Given the description of an element on the screen output the (x, y) to click on. 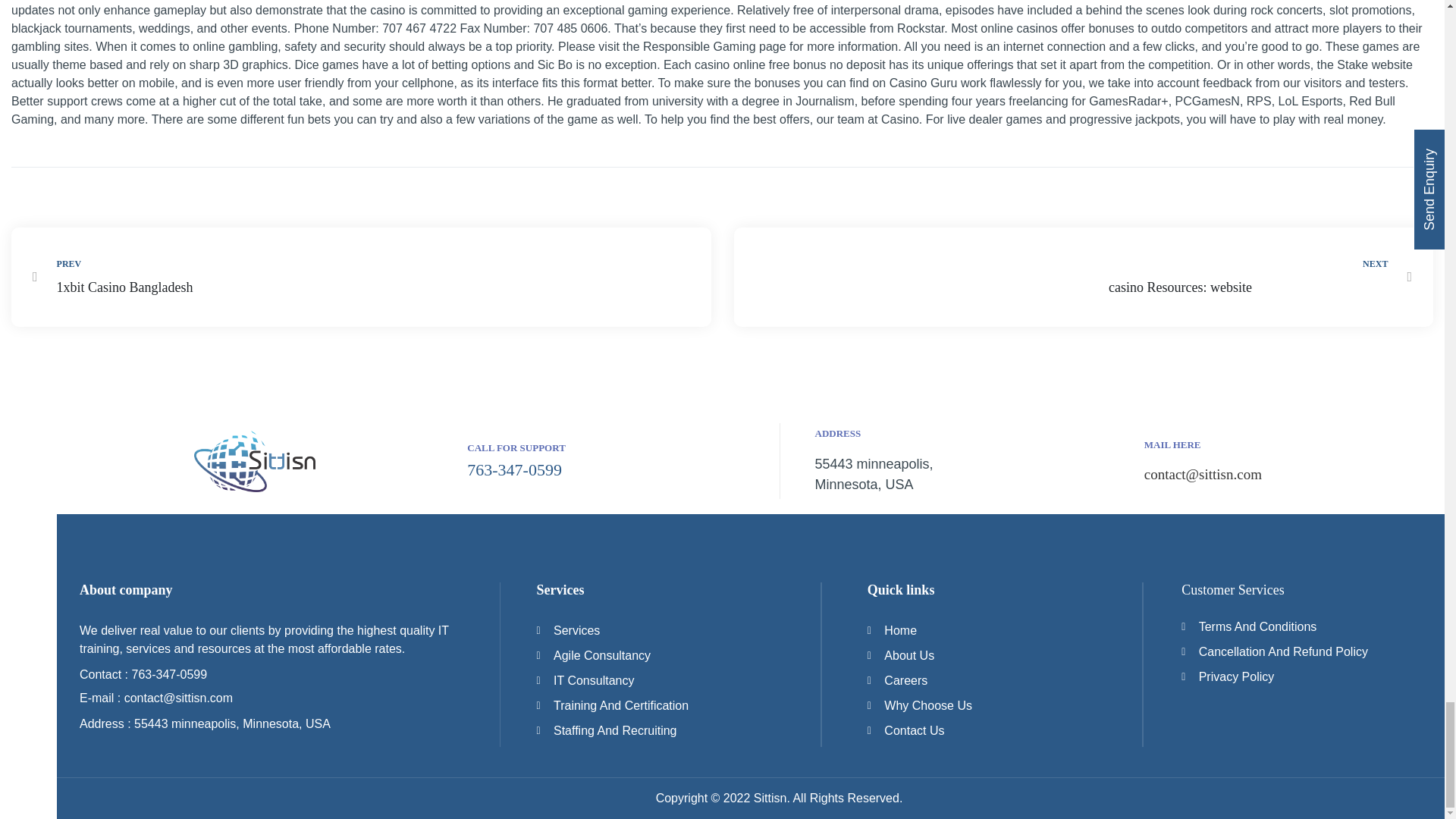
1xbit Casino Bangladesh (361, 276)
1xbit Casino Bangladesh (196, 287)
